Given the description of an element on the screen output the (x, y) to click on. 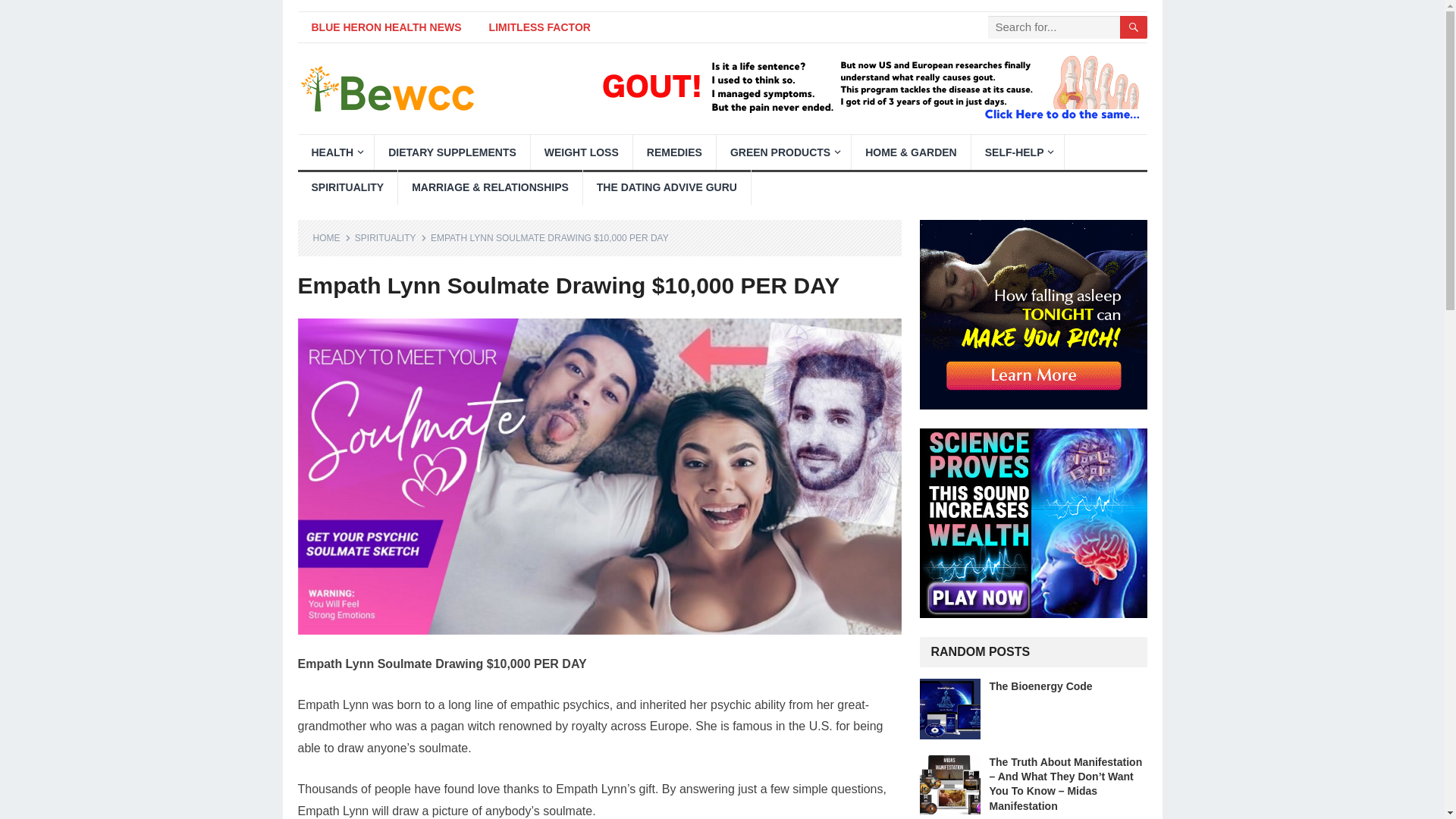
HOME (331, 237)
SPIRITUALITY (390, 237)
DIETARY SUPPLEMENTS (451, 152)
SPIRITUALITY (347, 186)
HEALTH (335, 152)
THE DATING ADVIVE GURU (667, 186)
LIMITLESS FACTOR (540, 27)
View all posts in Spirituality (390, 237)
WEIGHT LOSS (581, 152)
SELF-HELP (1017, 152)
